Given the description of an element on the screen output the (x, y) to click on. 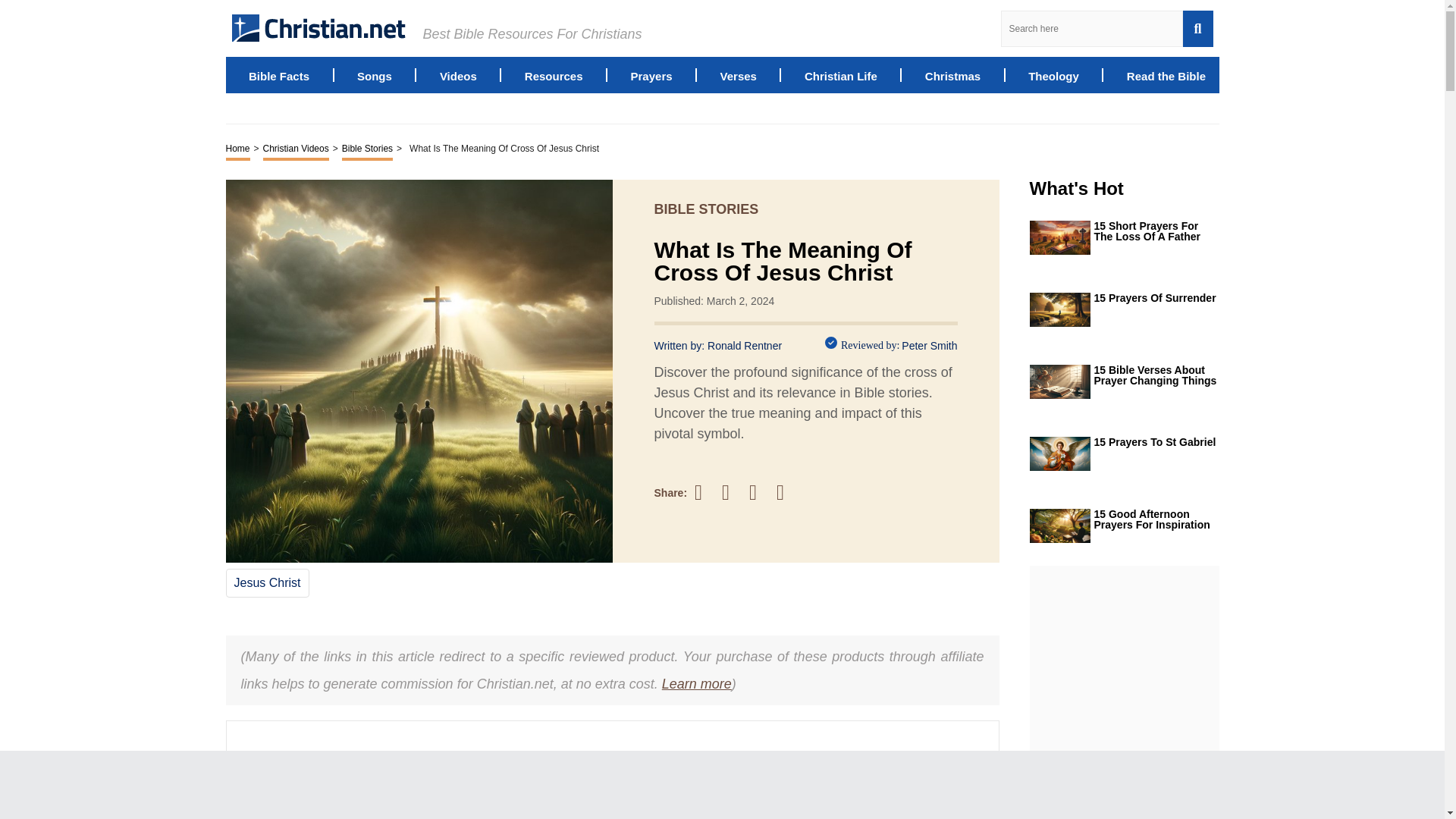
Christian Videos (296, 149)
Ronald Rentner (744, 345)
Resources (553, 74)
Videos (458, 74)
Bible Stories (367, 149)
Prayers (651, 74)
Share on Facebook (705, 492)
Jesus Christ (265, 582)
Read the Bible (1165, 74)
Share on WhatsApp (786, 492)
